Given the description of an element on the screen output the (x, y) to click on. 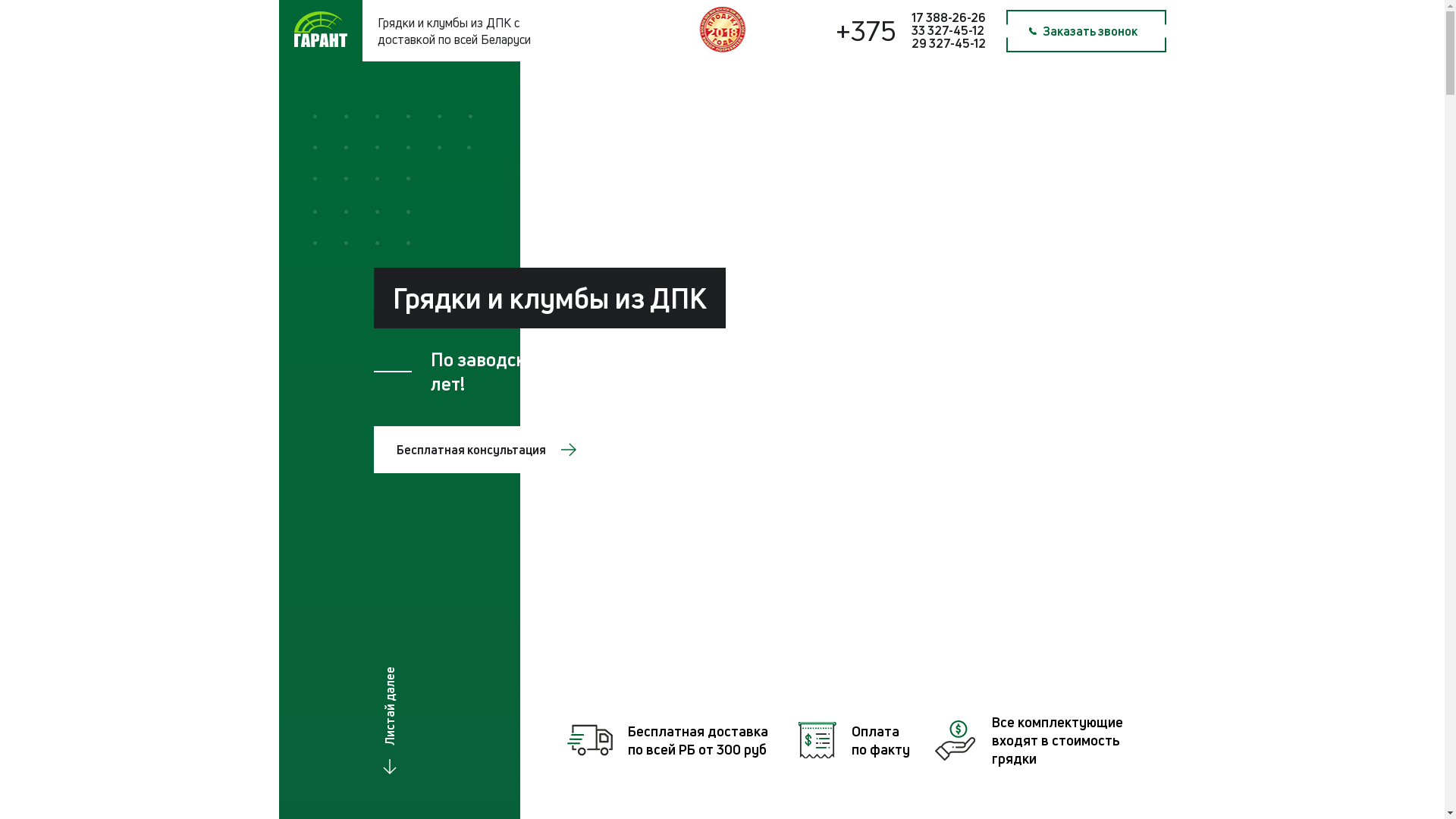
33 327-45-12 Element type: text (947, 29)
29 327-45-12 Element type: text (948, 42)
17 388-26-26 Element type: text (948, 17)
